Given the description of an element on the screen output the (x, y) to click on. 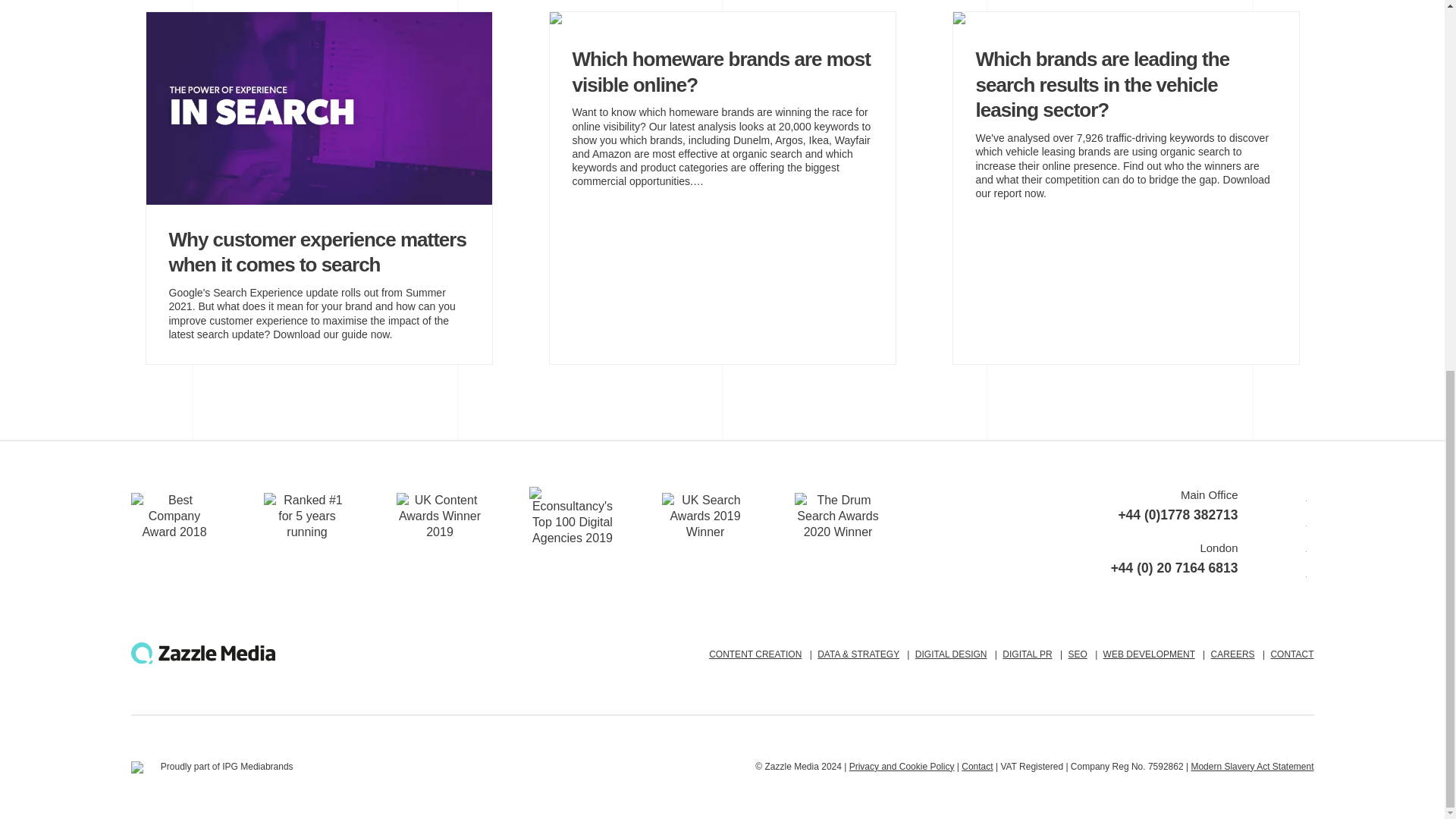
Why customer experience matters when it comes to search (318, 263)
CAREERS (1233, 654)
DIGITAL PR (1027, 654)
Twitter (1294, 520)
DIGITAL DESIGN (951, 654)
LinkedIn (1294, 546)
WEB DEVELOPMENT (1149, 654)
SEO (1076, 654)
CONTENT CREATION (755, 654)
